Given the description of an element on the screen output the (x, y) to click on. 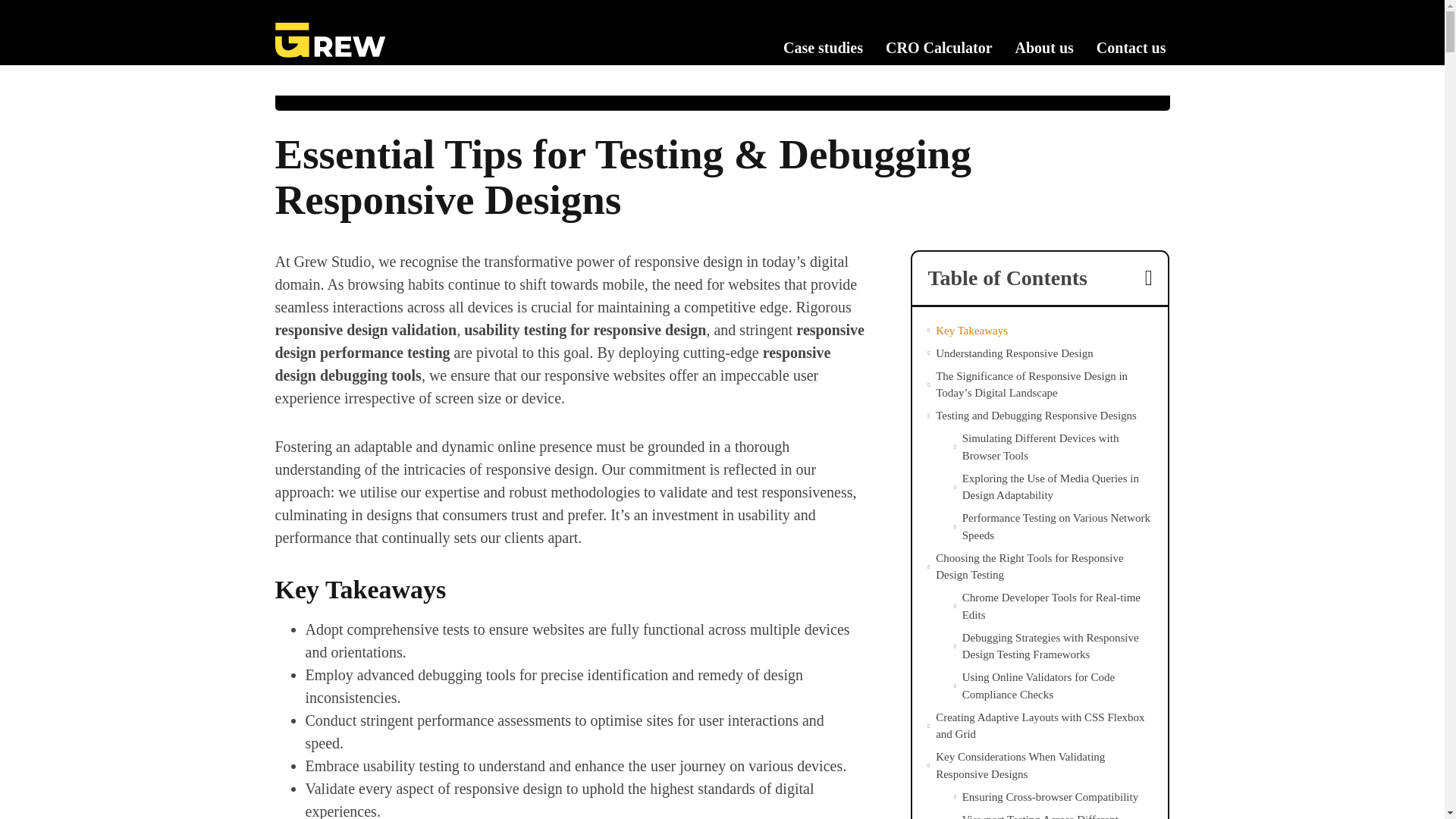
Performance Testing on Various Network Speeds (1057, 526)
Key Takeaways (971, 330)
Ensuring Cross-browser Compatibility (1050, 796)
Choosing the Right Tools for Responsive Design Testing (1044, 566)
Viewport Testing Across Different Devices (1057, 815)
Using Online Validators for Code Compliance Checks (1057, 685)
Simulating Different Devices with Browser Tools (1057, 446)
Testing and Debugging Responsive Designs (1036, 416)
About us (1044, 47)
